Given the description of an element on the screen output the (x, y) to click on. 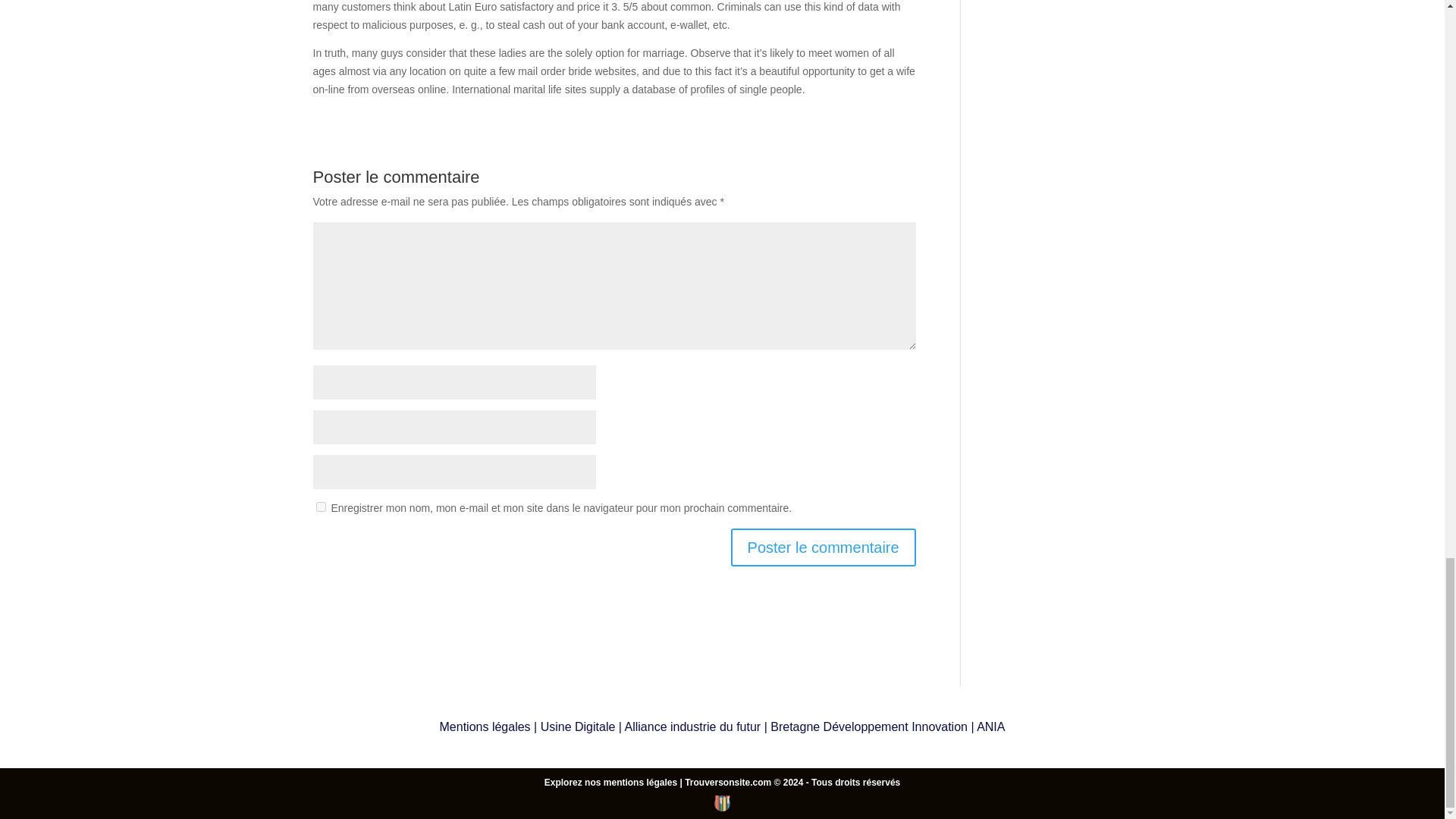
Poster le commentaire (822, 547)
ANIA (990, 726)
Poster le commentaire (822, 547)
yes (319, 506)
Alliance industrie du futur (692, 726)
Usine Digitale (577, 726)
